Given the description of an element on the screen output the (x, y) to click on. 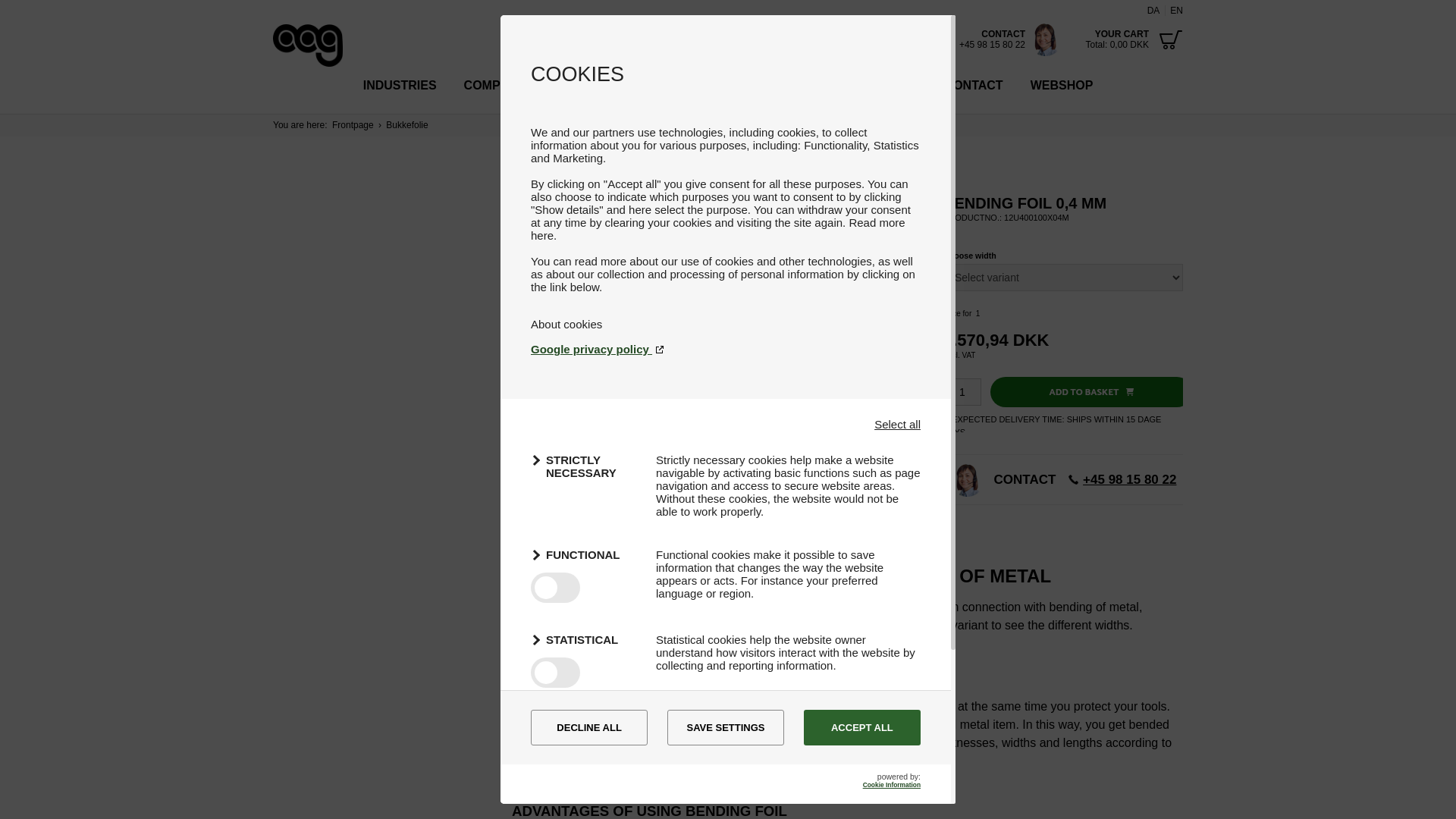
FUNCTIONAL (584, 554)
Select all (897, 423)
MARKETING (584, 724)
STRICTLY NECESSARY (584, 466)
About cookies (566, 323)
Read more here (718, 228)
STATISTICAL (584, 639)
1 (962, 391)
Google privacy policy (725, 349)
